Given the description of an element on the screen output the (x, y) to click on. 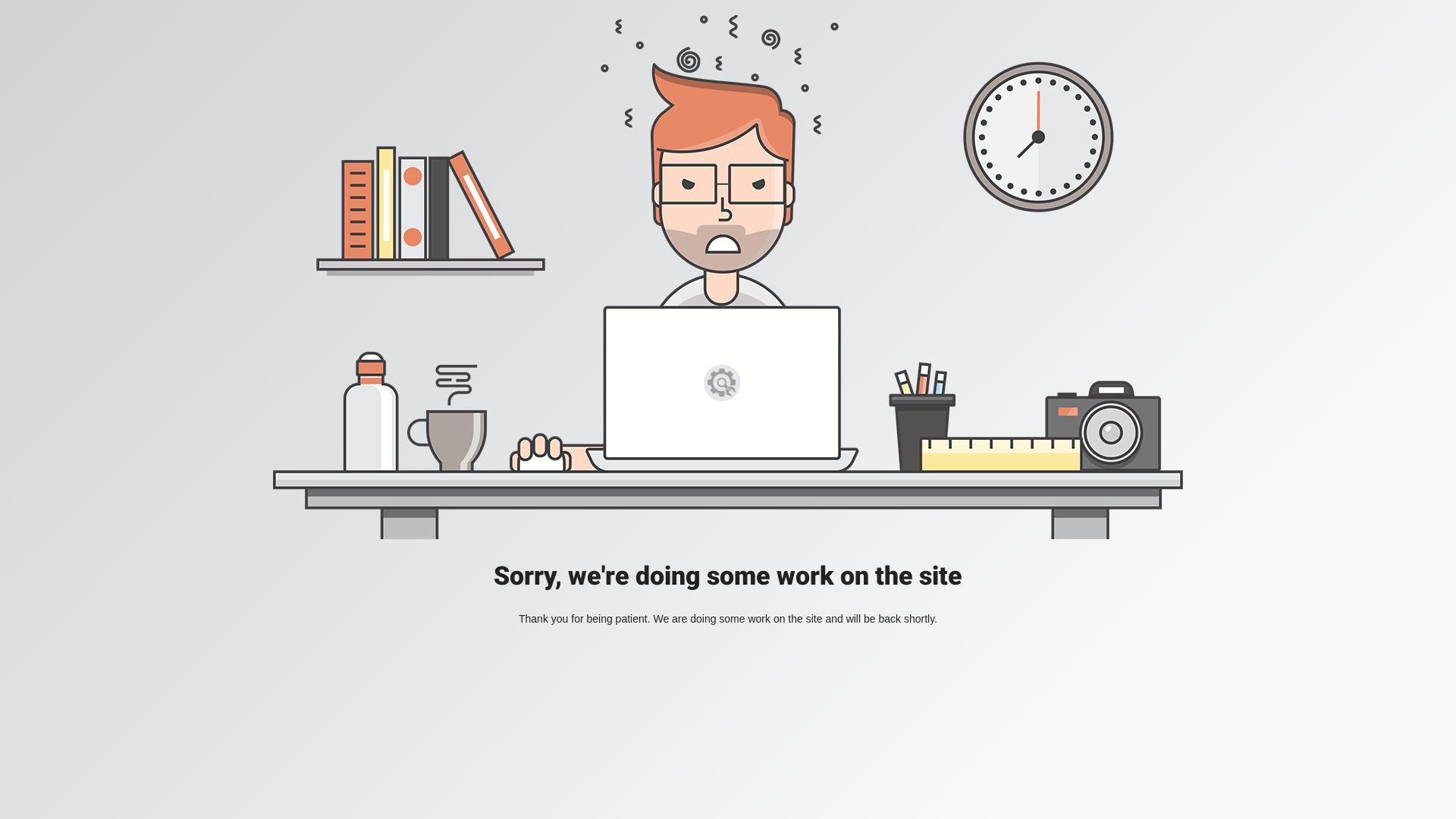
Mad Designer at work Element type: hover (728, 277)
